Given the description of an element on the screen output the (x, y) to click on. 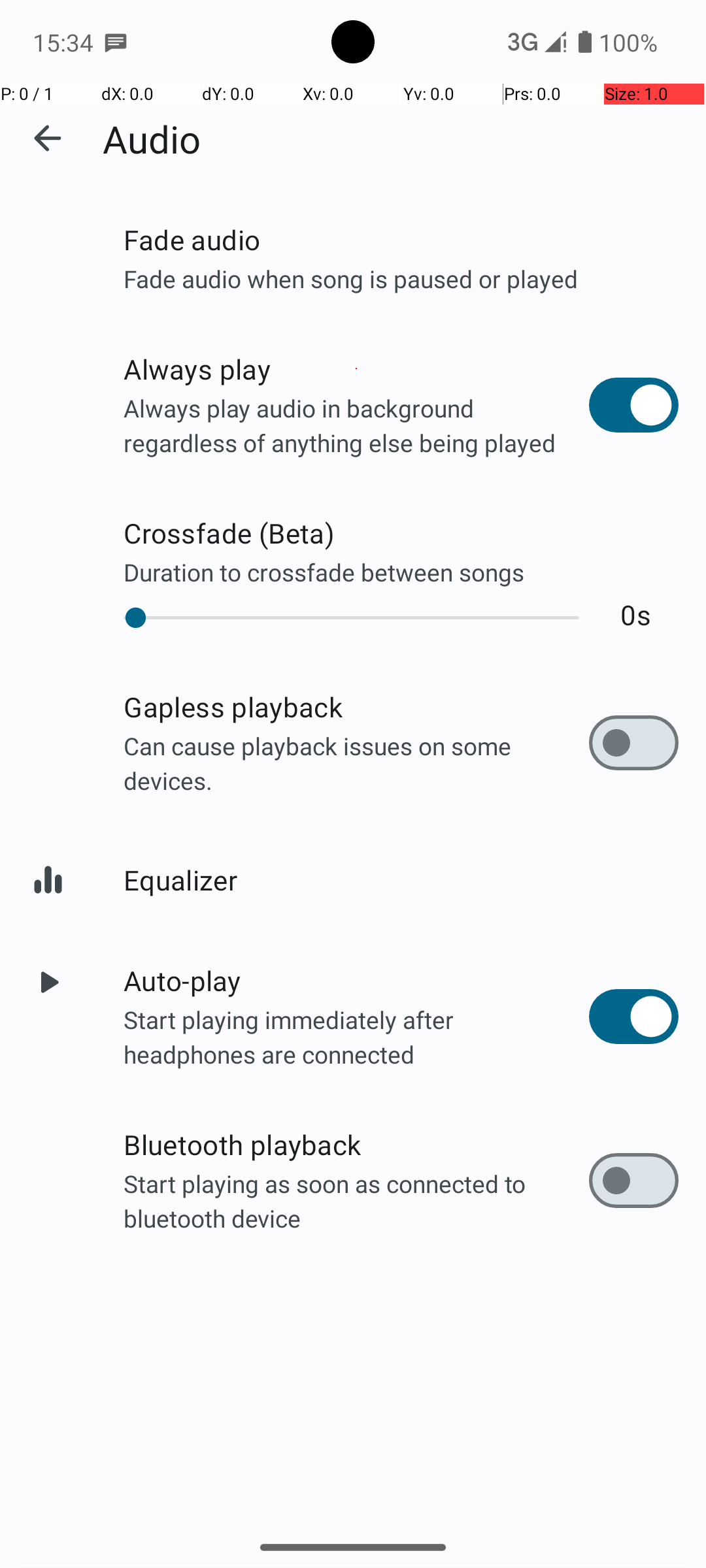
Fade audio Element type: android.widget.TextView (400, 239)
Fade audio when song is paused or played Element type: android.widget.TextView (400, 278)
Always play Element type: android.widget.TextView (355, 368)
Always play audio in background regardless of anything else being played Element type: android.widget.TextView (355, 424)
Crossfade (Beta) Element type: android.widget.TextView (400, 532)
Duration to crossfade between songs Element type: android.widget.TextView (400, 571)
0s Element type: android.widget.TextView (635, 614)
Gapless playback Element type: android.widget.TextView (355, 706)
Can cause playback issues on some devices. Element type: android.widget.TextView (355, 762)
Equalizer Element type: android.widget.TextView (400, 879)
Auto-play Element type: android.widget.TextView (355, 979)
Start playing immediately after headphones are connected Element type: android.widget.TextView (355, 1036)
Bluetooth playback Element type: android.widget.TextView (355, 1143)
Start playing as soon as connected to bluetooth device Element type: android.widget.TextView (355, 1200)
